Given the description of an element on the screen output the (x, y) to click on. 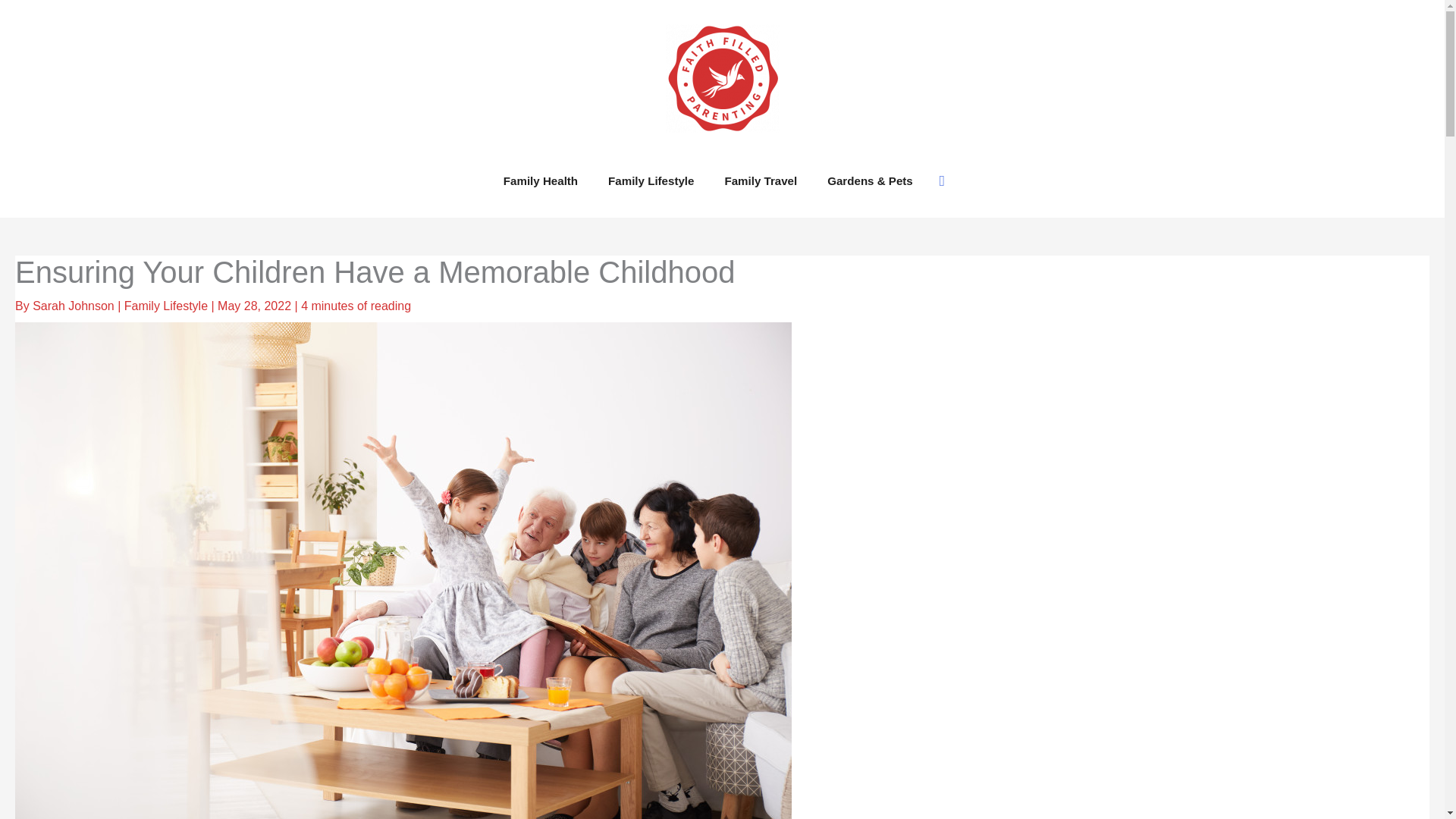
Family Lifestyle (165, 305)
View all posts by Sarah Johnson (74, 305)
Family Travel (760, 180)
Sarah Johnson (74, 305)
Family Health (539, 180)
Family Lifestyle (650, 180)
Search (941, 181)
